Given the description of an element on the screen output the (x, y) to click on. 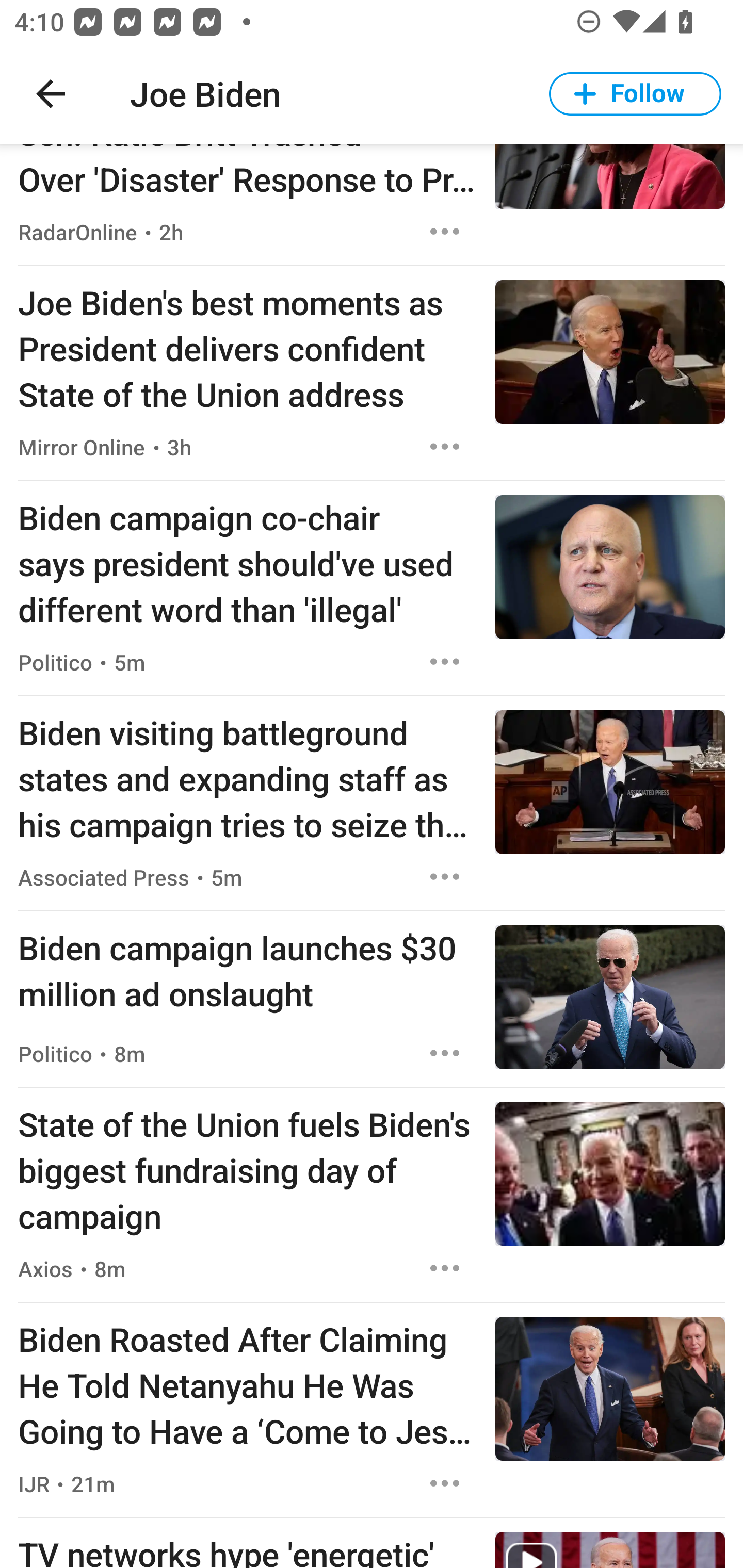
Navigate up (50, 93)
Follow (635, 94)
Options (444, 232)
Options (444, 446)
Options (444, 661)
Options (444, 876)
Options (444, 1053)
Options (444, 1268)
Options (444, 1483)
